Given the description of an element on the screen output the (x, y) to click on. 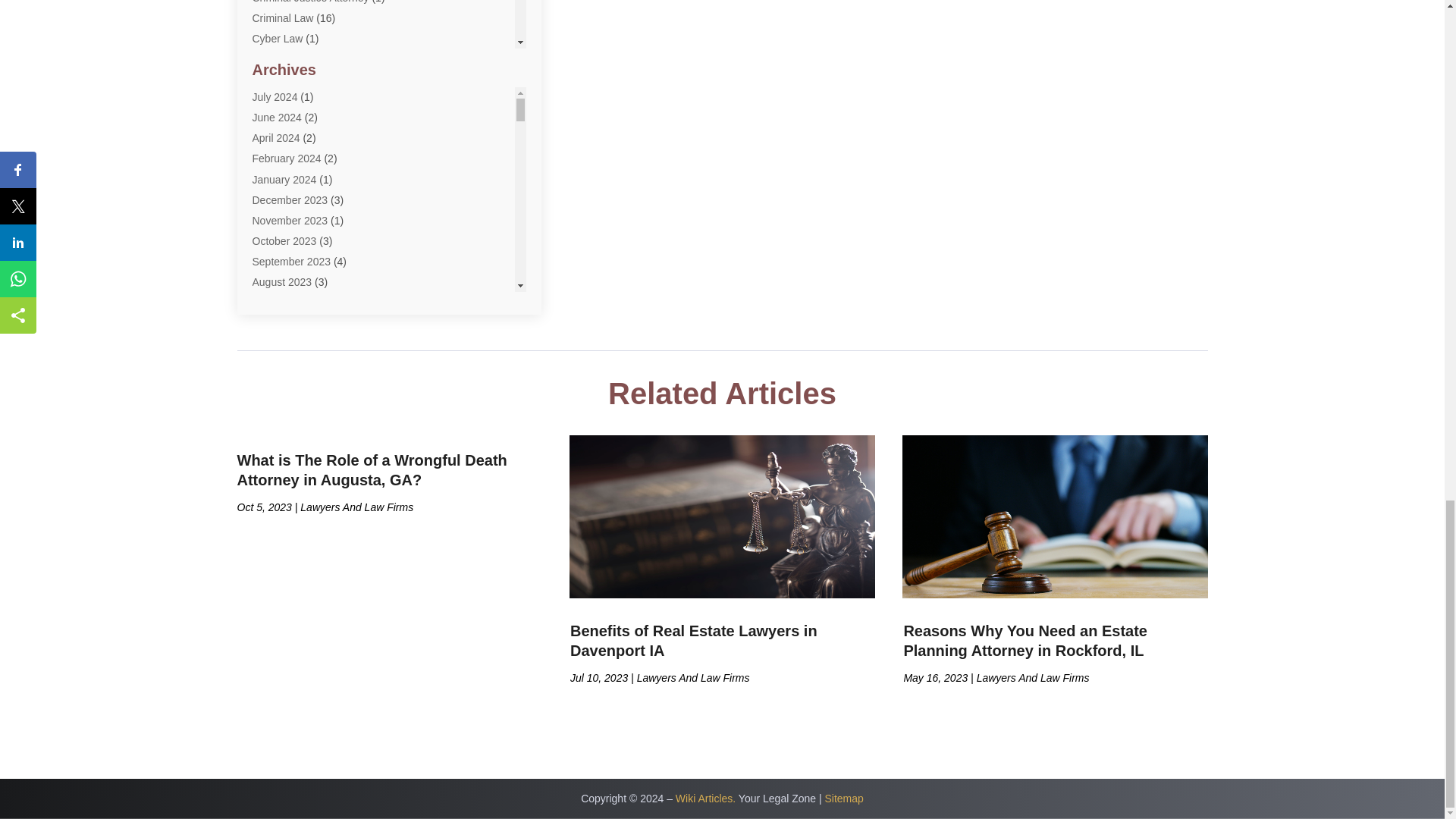
DWI Lawyers (282, 121)
Criminal Law (282, 18)
General (270, 183)
Dui Law Attorneys (294, 101)
Family Law (278, 162)
Divorce Lawyer (287, 60)
Divorce Service (288, 80)
Employment Law (292, 141)
Criminal Justice Attorney (309, 2)
Cyber Law (276, 38)
